Given the description of an element on the screen output the (x, y) to click on. 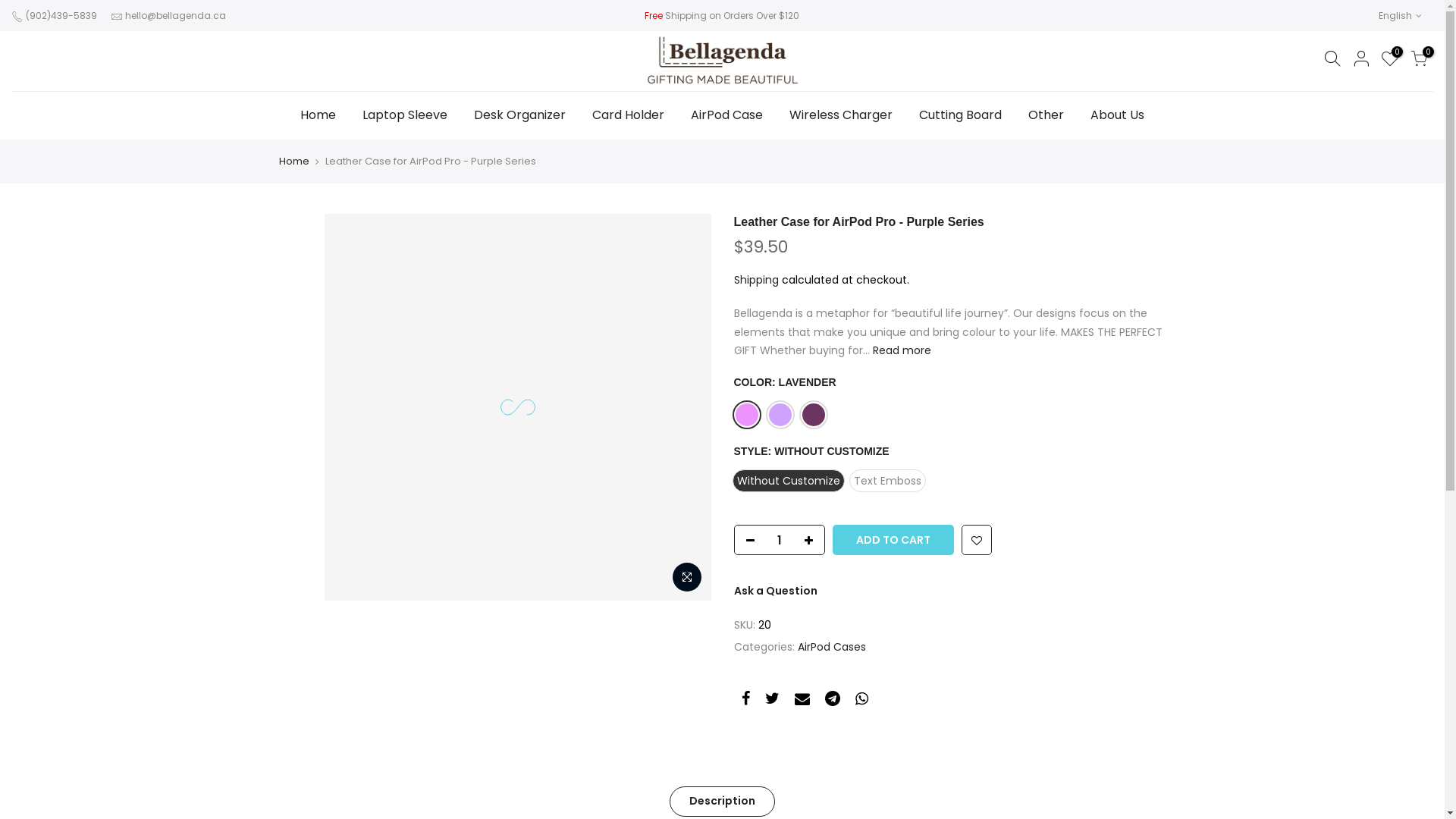
AirPod Cases Element type: text (831, 646)
Other Element type: text (1045, 115)
Home Element type: text (317, 115)
Description Element type: text (722, 801)
Wireless Charger Element type: text (841, 115)
0 Element type: text (1418, 61)
Home Element type: text (294, 161)
Laptop Sleeve Element type: text (404, 115)
hello@bellagenda.ca Element type: text (175, 15)
Card Holder Element type: text (628, 115)
AirPod Case Element type: text (726, 115)
Shipping Element type: text (756, 279)
Ask a Question Element type: text (775, 590)
Read more Element type: text (899, 349)
About Us Element type: text (1116, 115)
0 Element type: text (1389, 61)
Cutting Board Element type: text (959, 115)
ADD TO CART Element type: text (892, 539)
Desk Organizer Element type: text (520, 115)
